Given the description of an element on the screen output the (x, y) to click on. 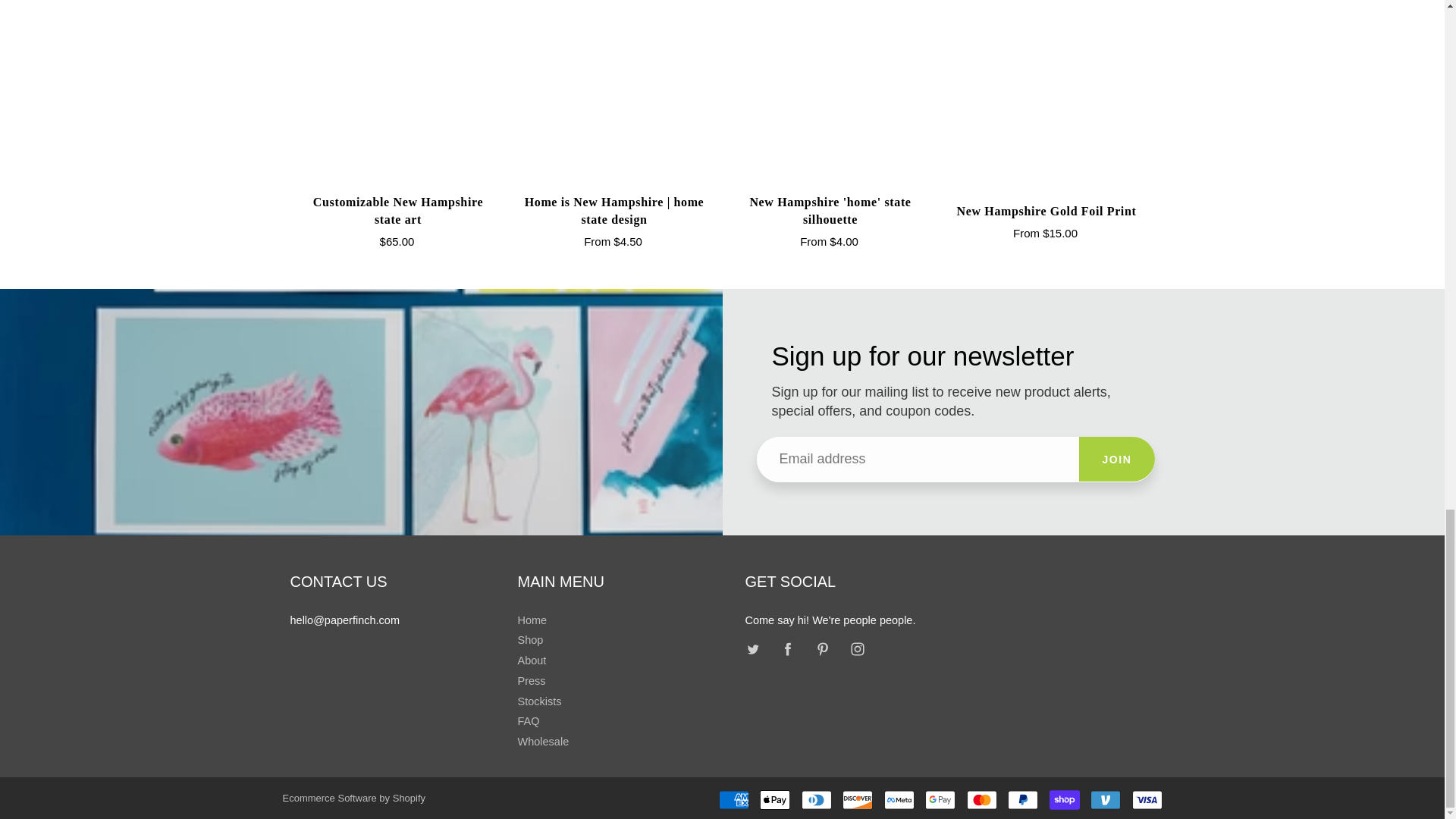
Apple Pay (775, 799)
Visa (1146, 799)
Meta Pay (898, 799)
Venmo (1105, 799)
PayPal (1022, 799)
Discover (857, 799)
American Express (734, 799)
Shop Pay (1064, 799)
Diners Club (816, 799)
Mastercard (981, 799)
